Given the description of an element on the screen output the (x, y) to click on. 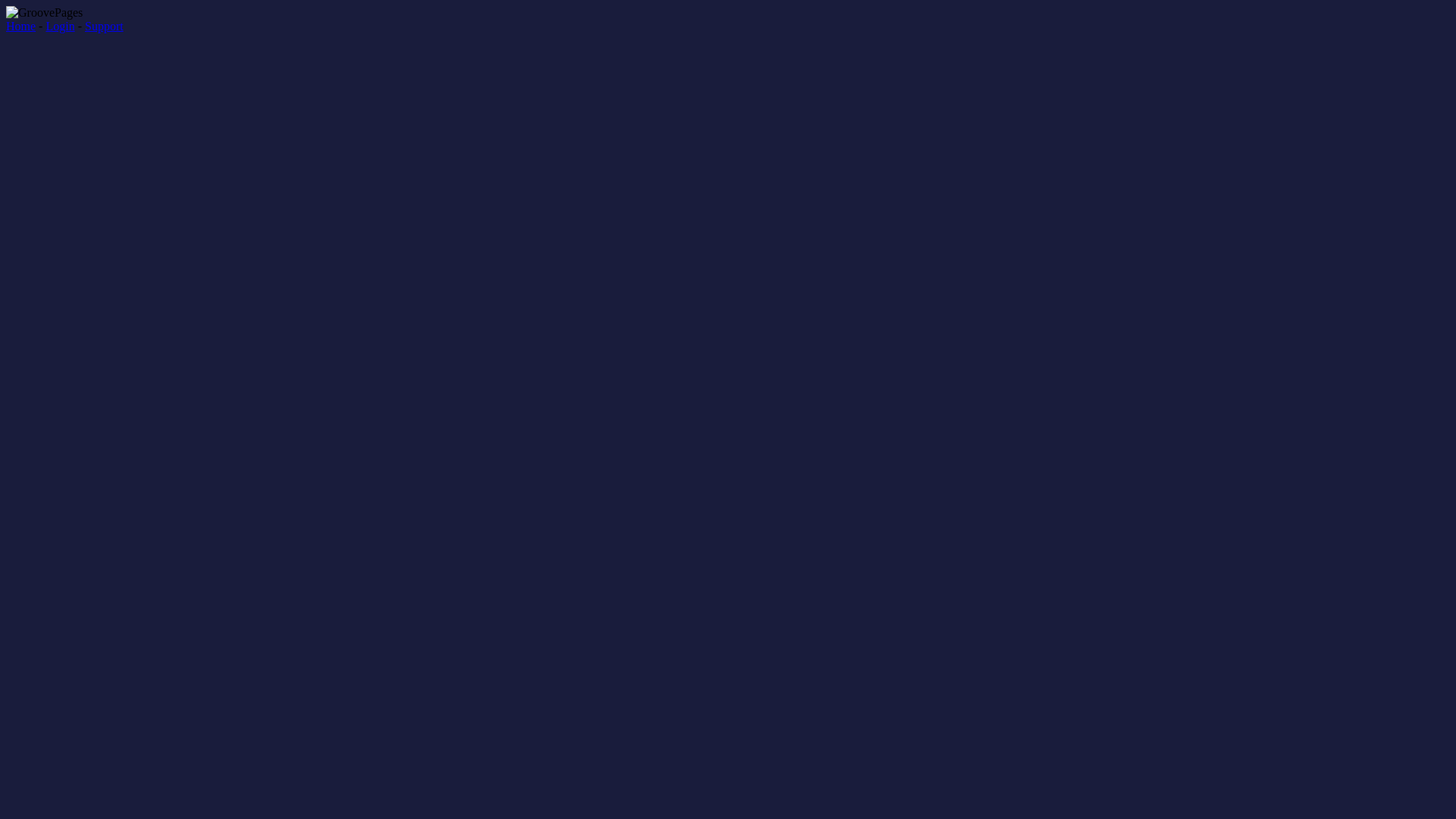
Login Element type: text (59, 25)
Home Element type: text (20, 25)
Support Element type: text (103, 25)
